Given the description of an element on the screen output the (x, y) to click on. 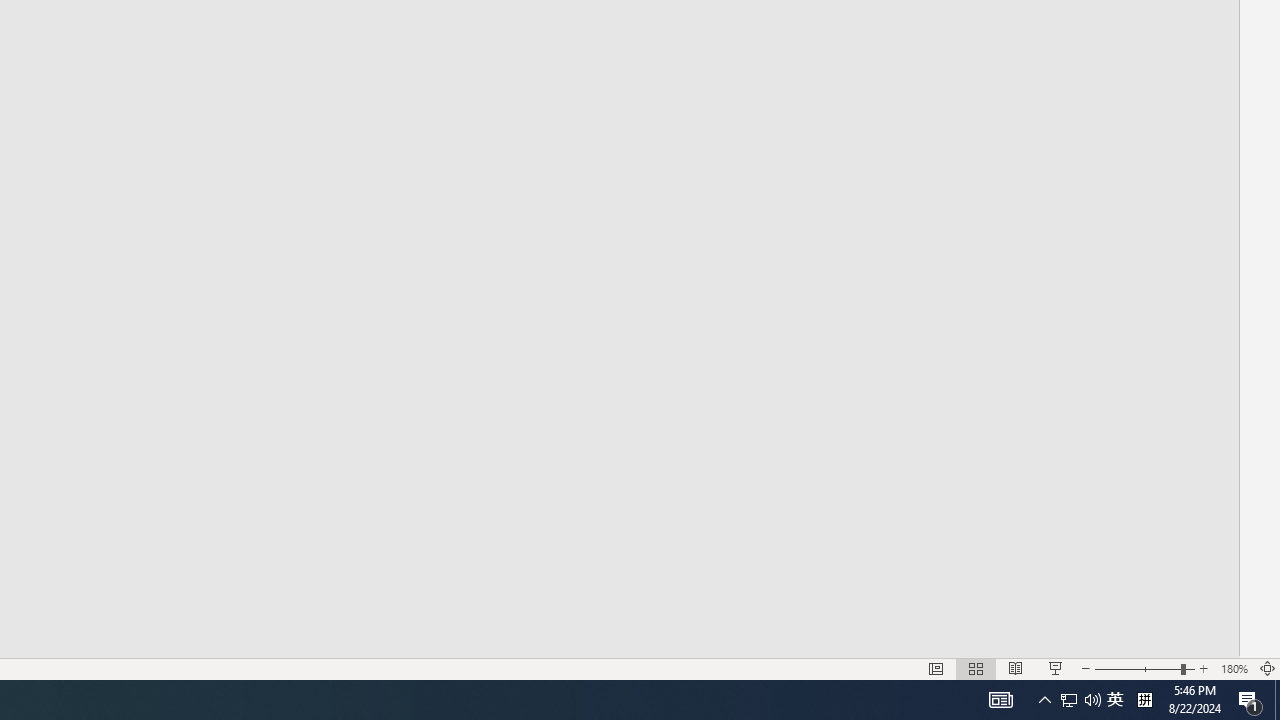
Zoom to Fit  (1267, 668)
Zoom Out (1137, 668)
Zoom (1144, 668)
Zoom 180% (1234, 668)
Zoom In (1204, 668)
Slide Sorter (975, 668)
Reading View (1015, 668)
Normal (936, 668)
Slide Show (1055, 668)
